Given the description of an element on the screen output the (x, y) to click on. 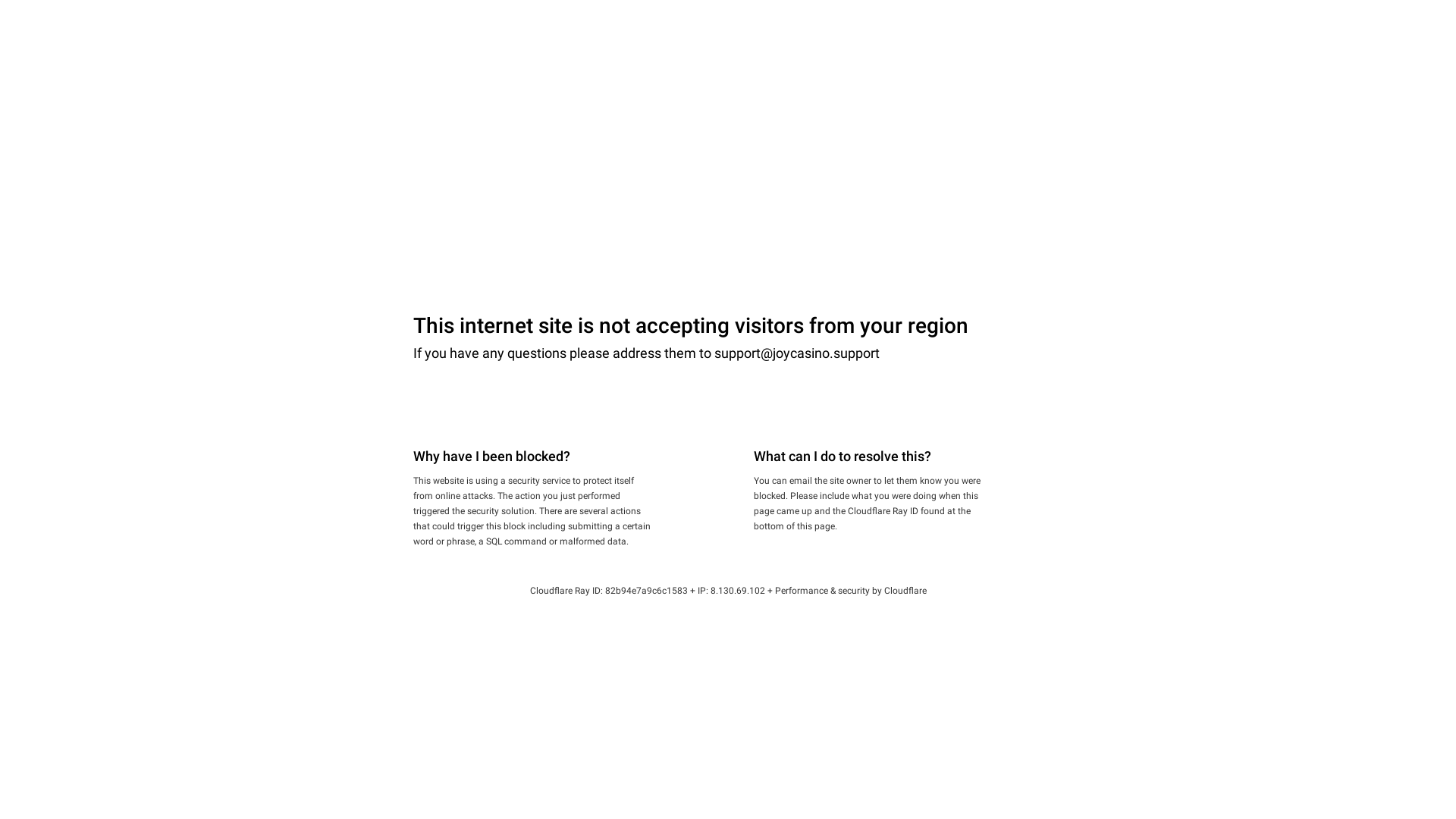
Cloudflare Element type: text (905, 590)
